Given the description of an element on the screen output the (x, y) to click on. 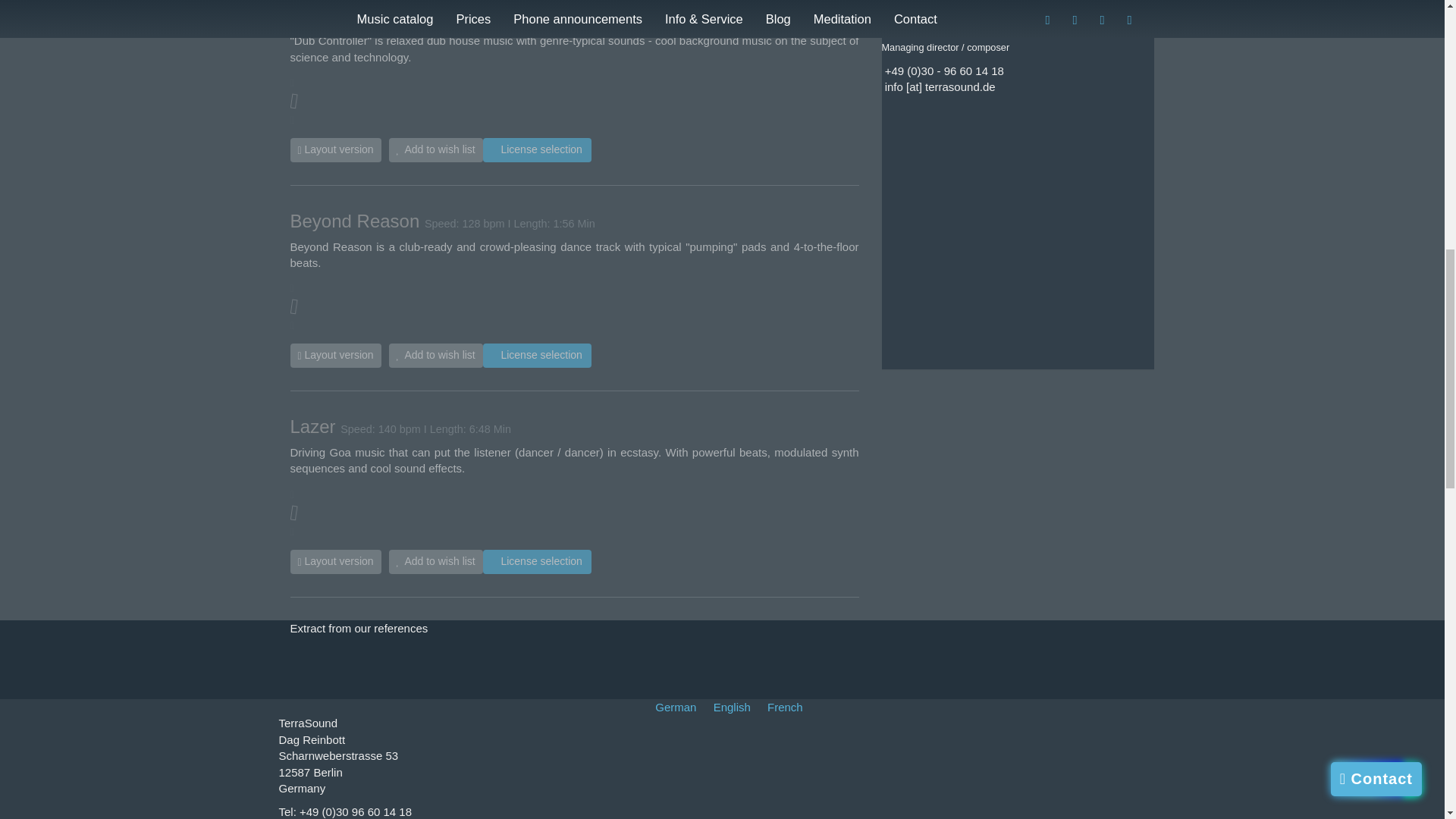
  License selection (537, 355)
Add to wish list (436, 354)
  License selection (537, 148)
Lazer (311, 426)
Layout version (334, 561)
Layout version (334, 355)
Beyond Reason (354, 220)
Dub Controller (348, 14)
  License selection (537, 560)
Add to wish list (436, 149)
